Given the description of an element on the screen output the (x, y) to click on. 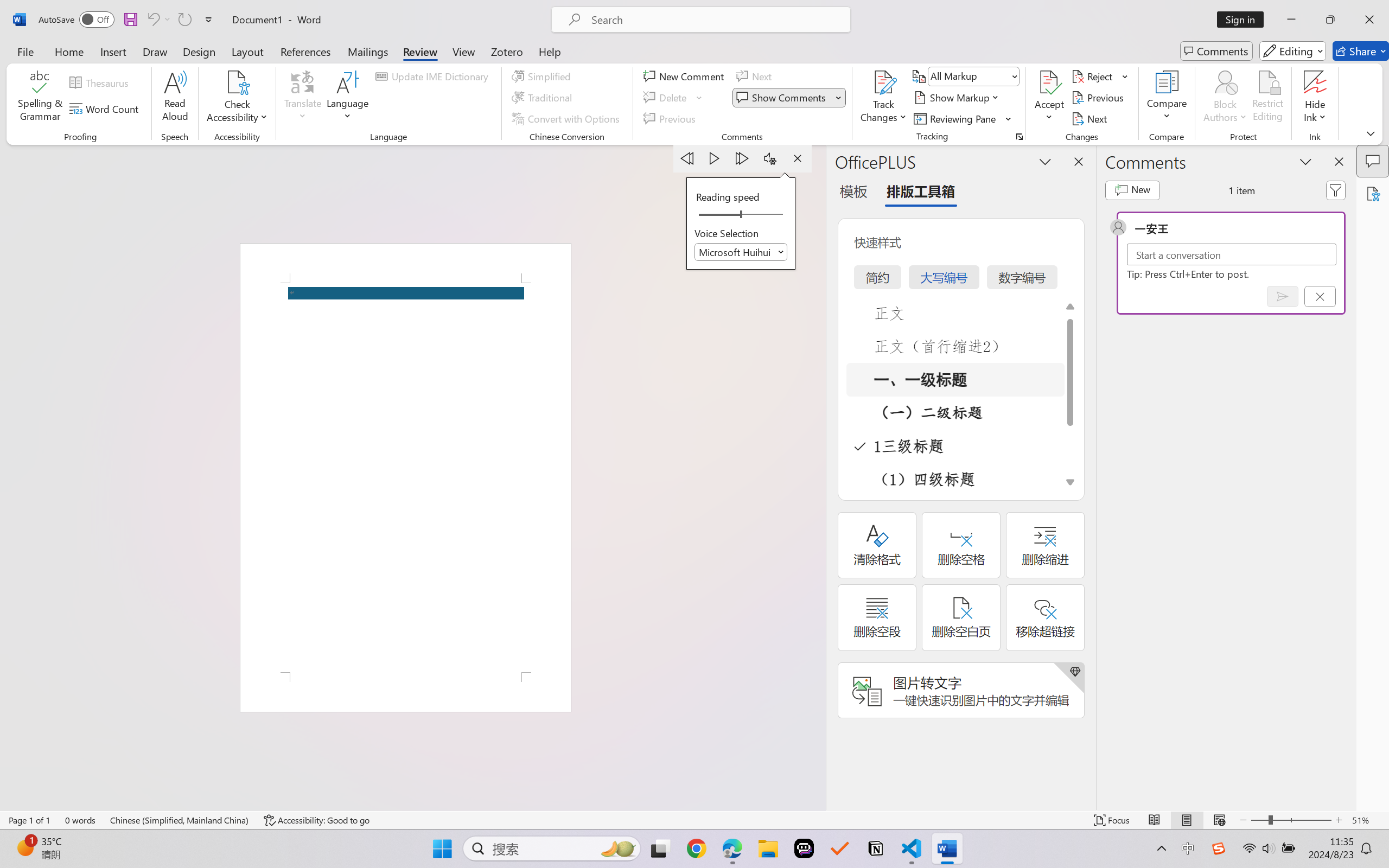
Delete (666, 97)
Repeat Accessibility Checker (184, 19)
Previous Paragraph (687, 158)
Change Tracking Options... (1019, 136)
Reading speed (740, 214)
